Given the description of an element on the screen output the (x, y) to click on. 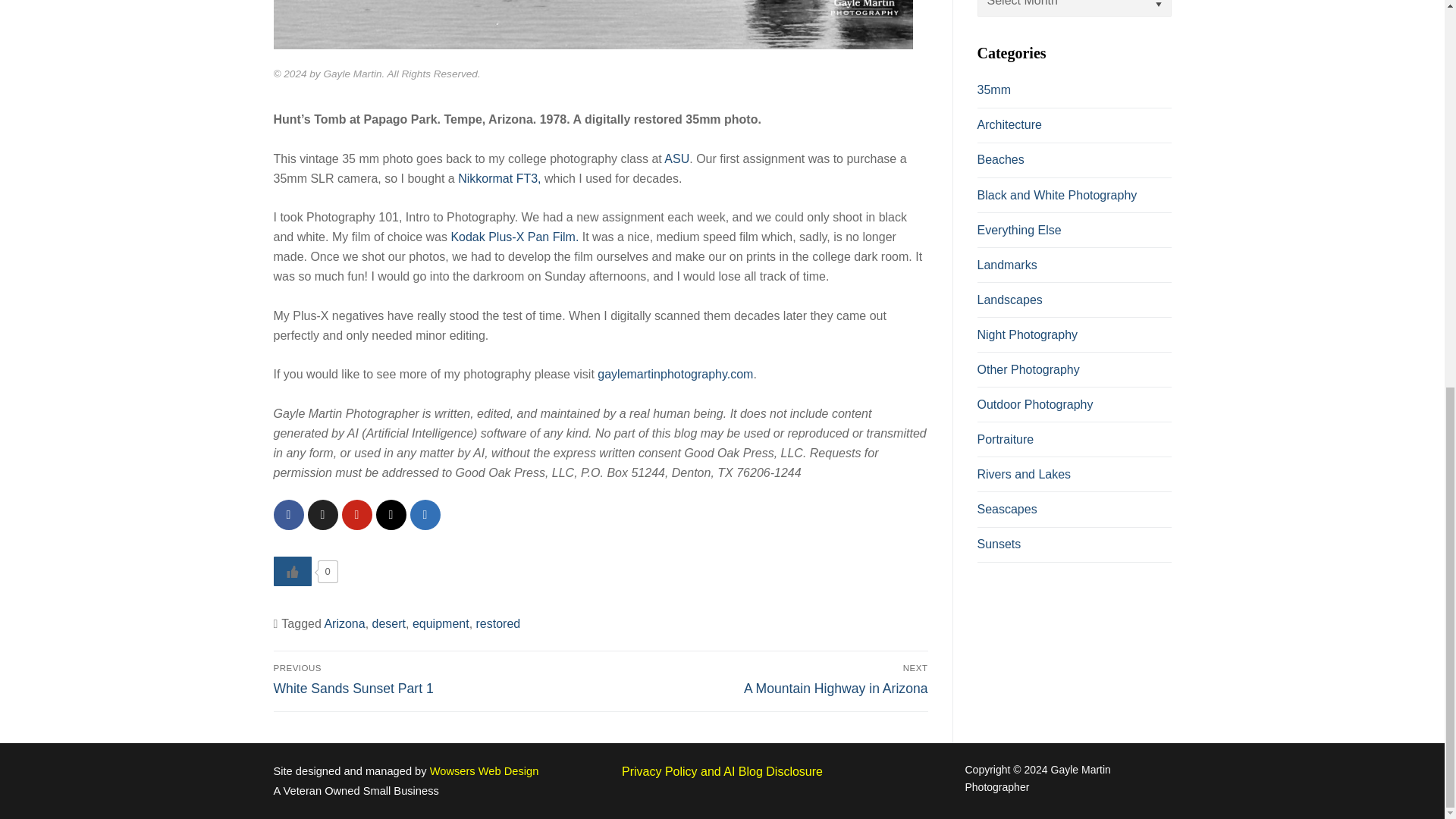
Kodak Plus-X Pan Film. (513, 236)
ASU (675, 158)
Arizona (344, 623)
equipment (440, 623)
desert (433, 679)
gaylemartinphotography.com (389, 623)
Nikkormat FT3, (674, 373)
restored (499, 178)
